Given the description of an element on the screen output the (x, y) to click on. 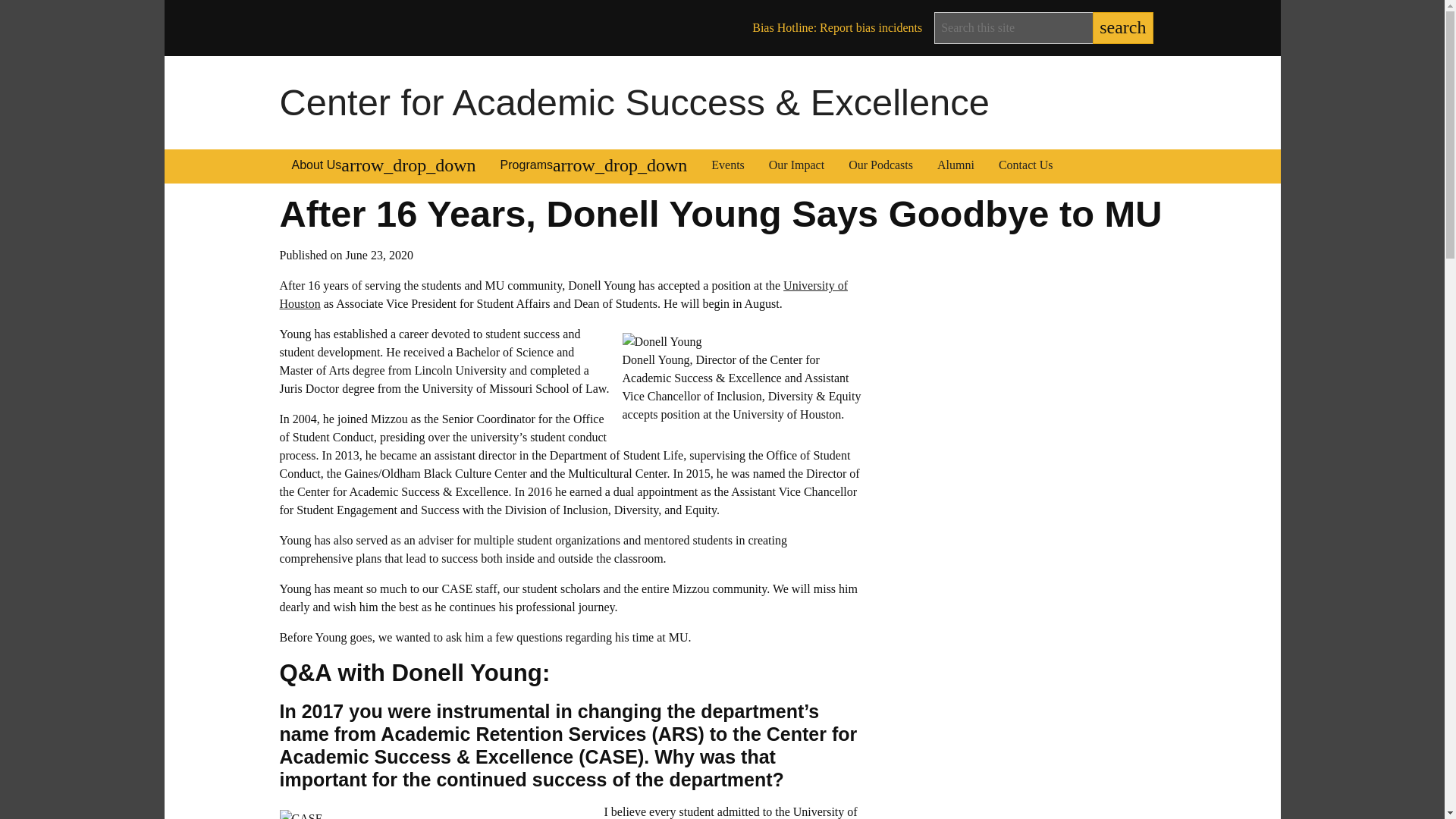
Contact Us (1026, 166)
University of Houston (563, 294)
MU Logo (301, 27)
University of Missouri (382, 30)
search (1123, 28)
Events (727, 166)
Bias Hotline: Report bias incidents (836, 28)
Our Podcasts (879, 166)
Our Impact (796, 166)
Alumni (955, 166)
